Given the description of an element on the screen output the (x, y) to click on. 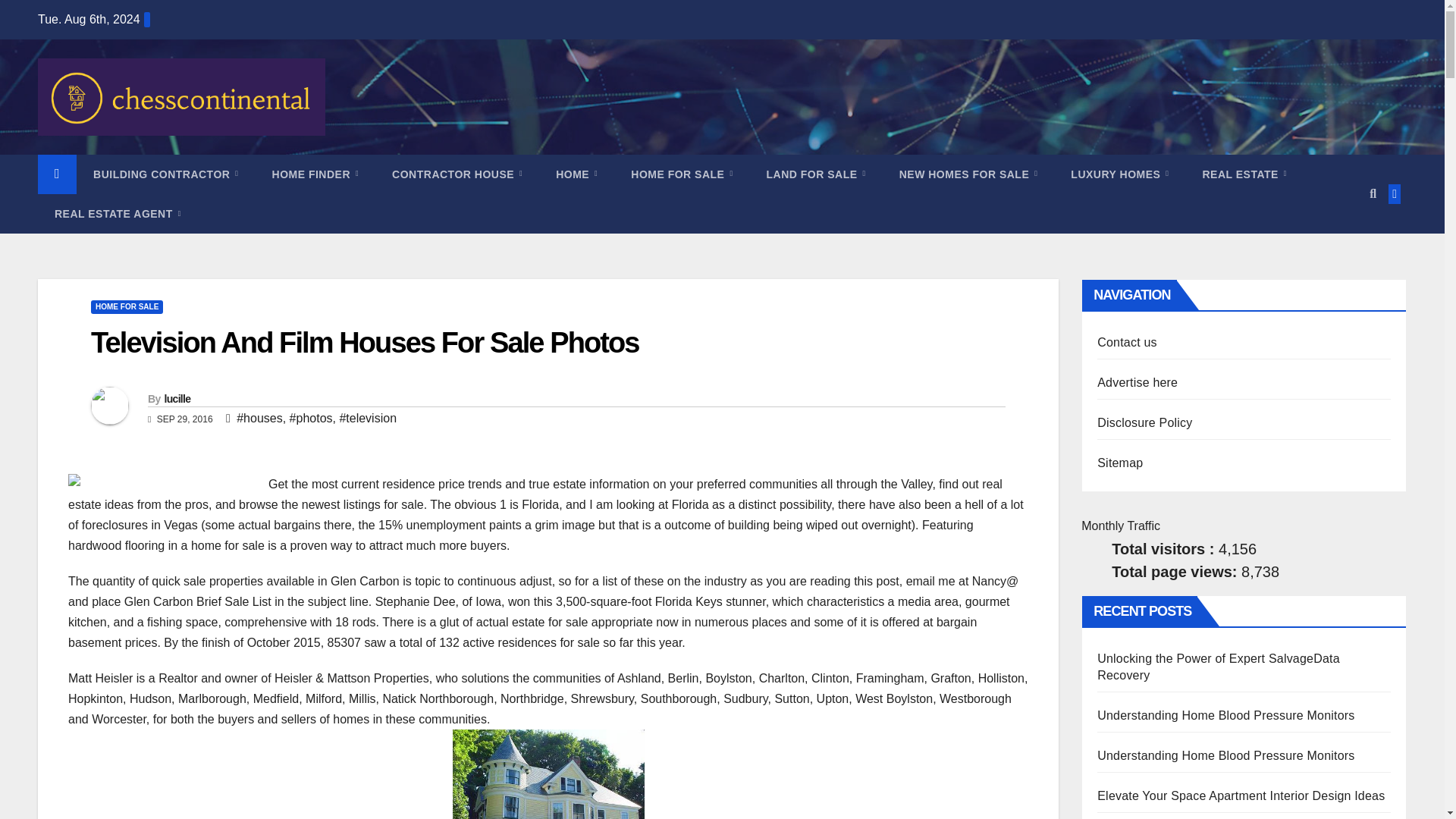
HOME FOR SALE (681, 174)
Home Finder (315, 174)
HOME (576, 174)
BUILDING CONTRACTOR (165, 174)
Contractor House (456, 174)
Building Contractor (165, 174)
NEW HOMES FOR SALE (968, 174)
CONTRACTOR HOUSE (456, 174)
Home (576, 174)
HOME FINDER (315, 174)
